Given the description of an element on the screen output the (x, y) to click on. 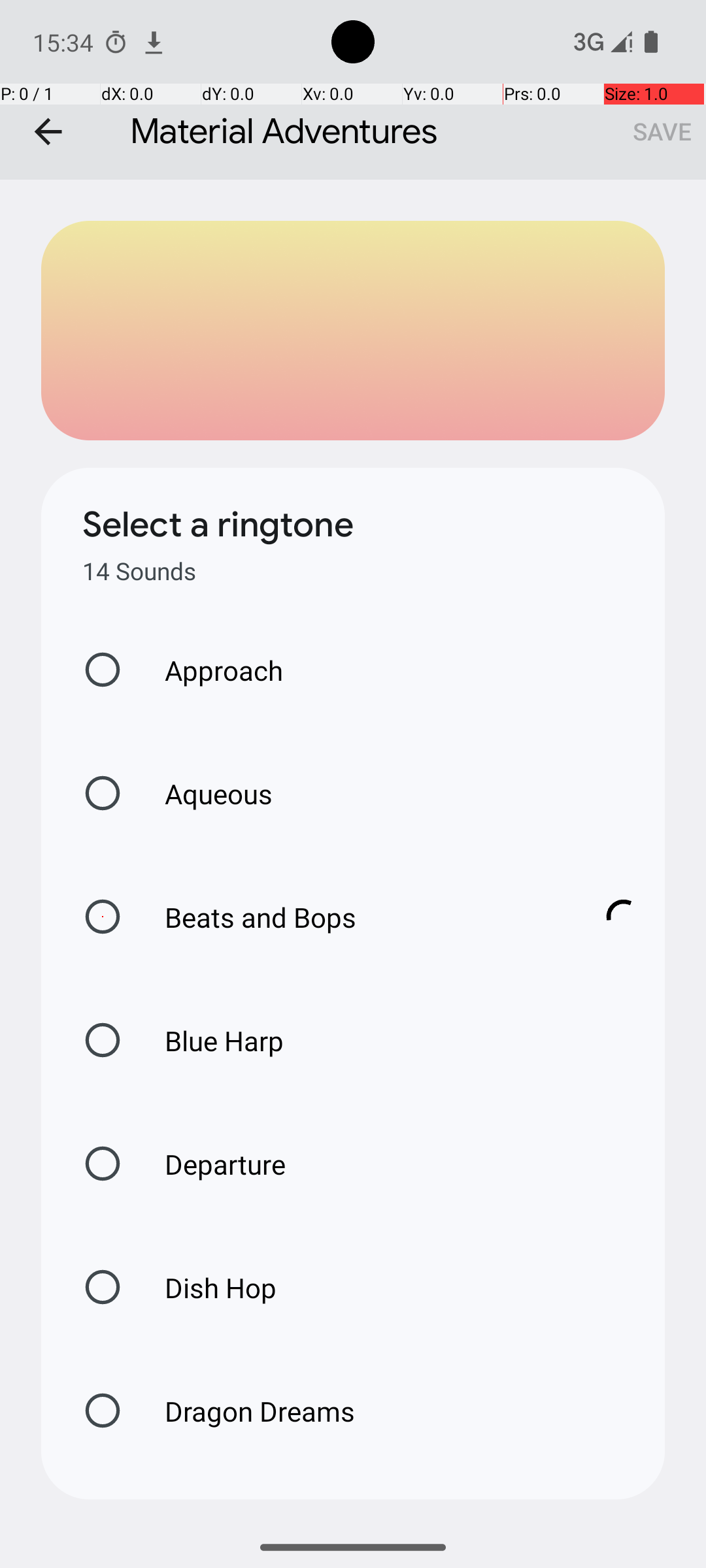
14 Sounds Element type: android.widget.TextView (139, 570)
Approach Element type: android.widget.TextView (210, 669)
Aqueous Element type: android.widget.TextView (204, 793)
Beats and Bops Element type: android.widget.TextView (359, 916)
Download in progress Element type: android.widget.ImageView (623, 916)
Blue Harp Element type: android.widget.TextView (210, 1040)
Departure Element type: android.widget.TextView (211, 1163)
Dish Hop Element type: android.widget.TextView (206, 1287)
Dragon Dreams Element type: android.widget.TextView (245, 1410)
